Given the description of an element on the screen output the (x, y) to click on. 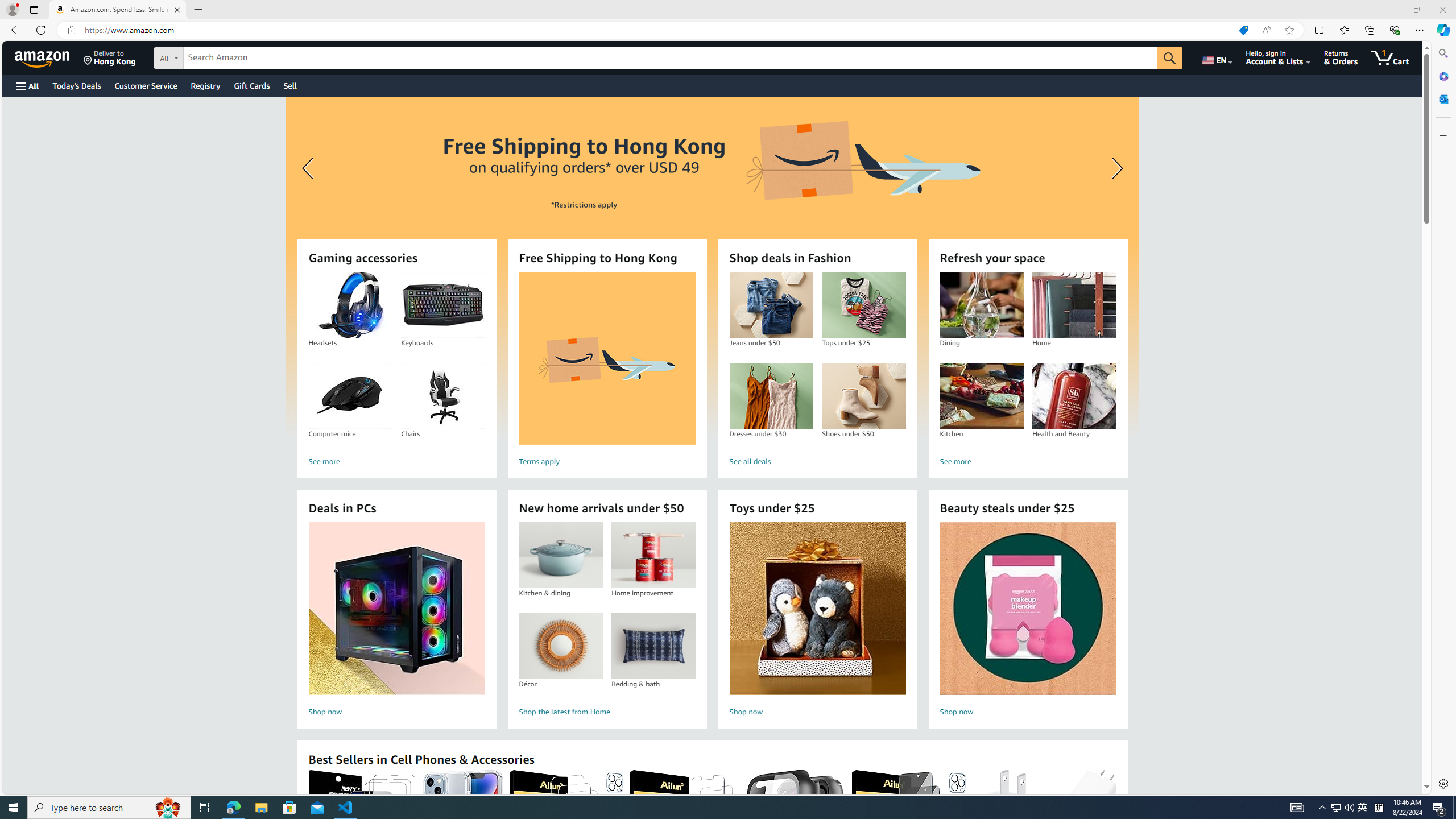
Home improvement (652, 555)
Dining (981, 304)
Refresh (40, 29)
Outline Section (99, 764)
Edit (50, 9)
Favorites (1344, 29)
Tab actions (369, 29)
Running applications (707, 807)
Jeans under $50 (771, 304)
Kitchen & dining (560, 555)
Spaces: 4 (1278, 789)
Computer mice (350, 395)
Shoes under $50 (863, 395)
Hide Panel (1442, 539)
